Given the description of an element on the screen output the (x, y) to click on. 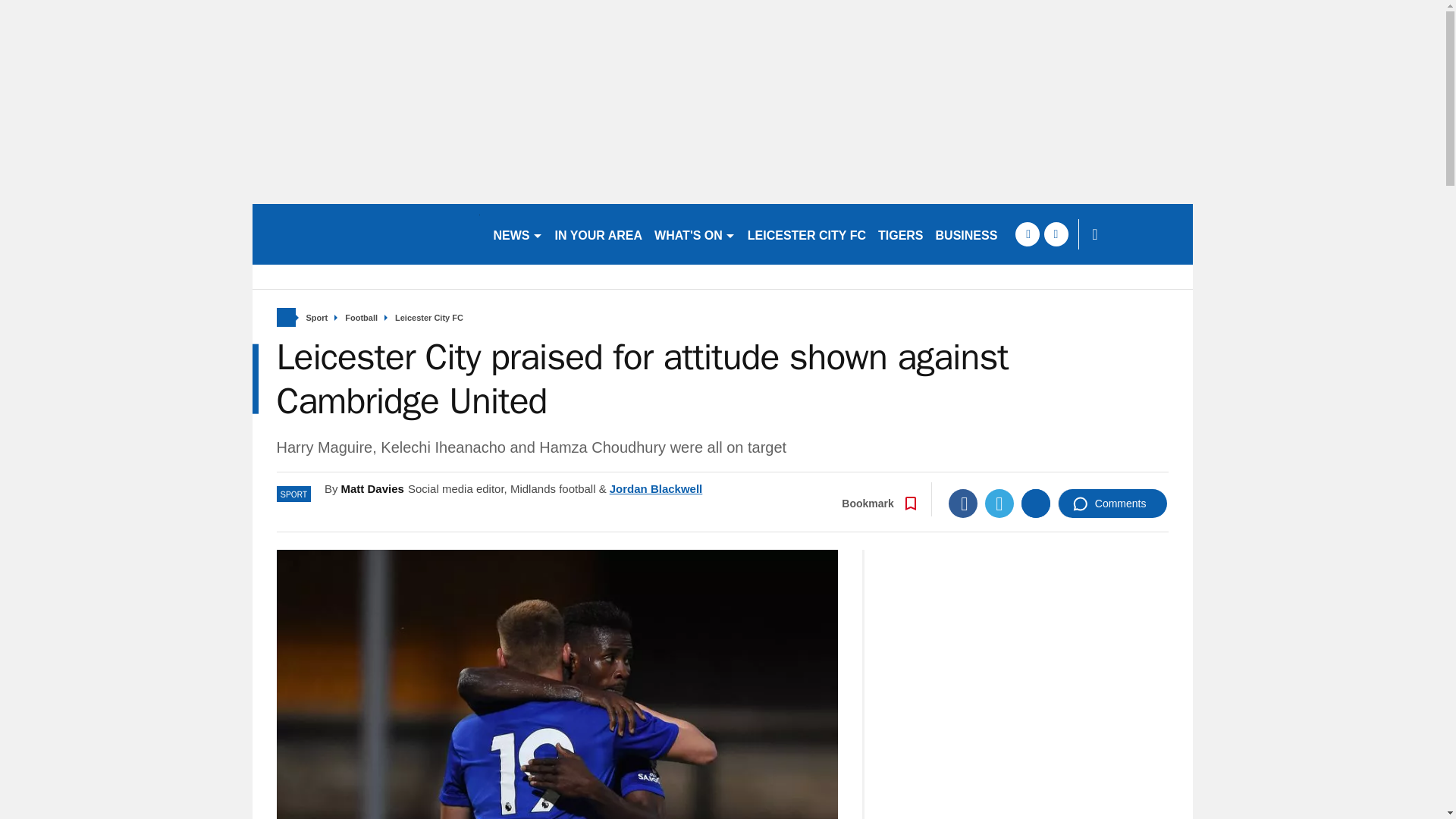
facebook (1026, 233)
Twitter (999, 502)
leicestermercury (365, 233)
TIGERS (901, 233)
NEWS (517, 233)
WHAT'S ON (694, 233)
LEICESTER CITY FC (806, 233)
BUSINESS (967, 233)
IN YOUR AREA (598, 233)
Comments (1112, 502)
